Given the description of an element on the screen output the (x, y) to click on. 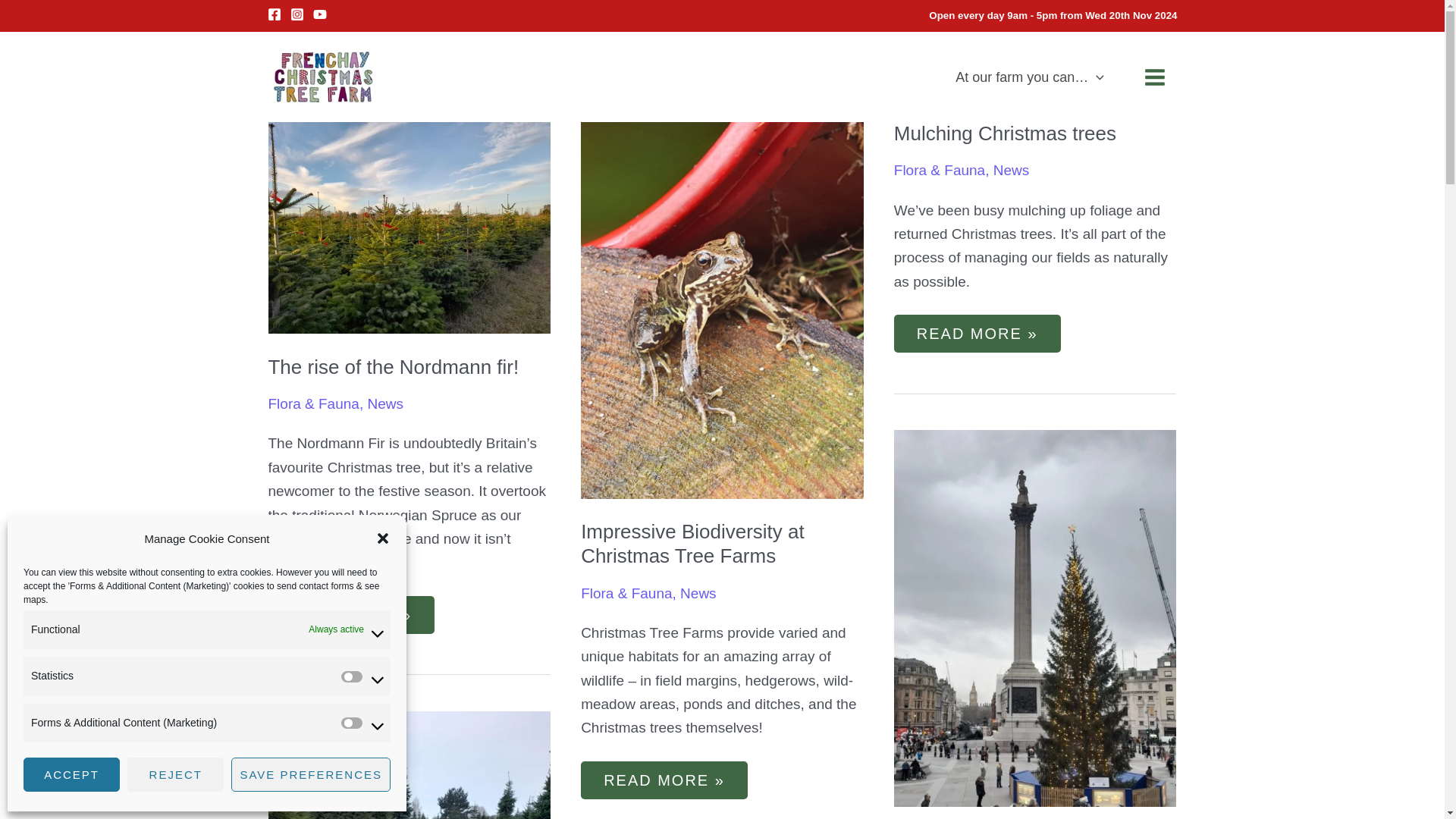
REJECT (176, 774)
SAVE PREFERENCES (310, 774)
MAIN MENU (1154, 76)
ACCEPT (71, 774)
The rise of the Nordmann fir! (393, 366)
News (384, 403)
